Given the description of an element on the screen output the (x, y) to click on. 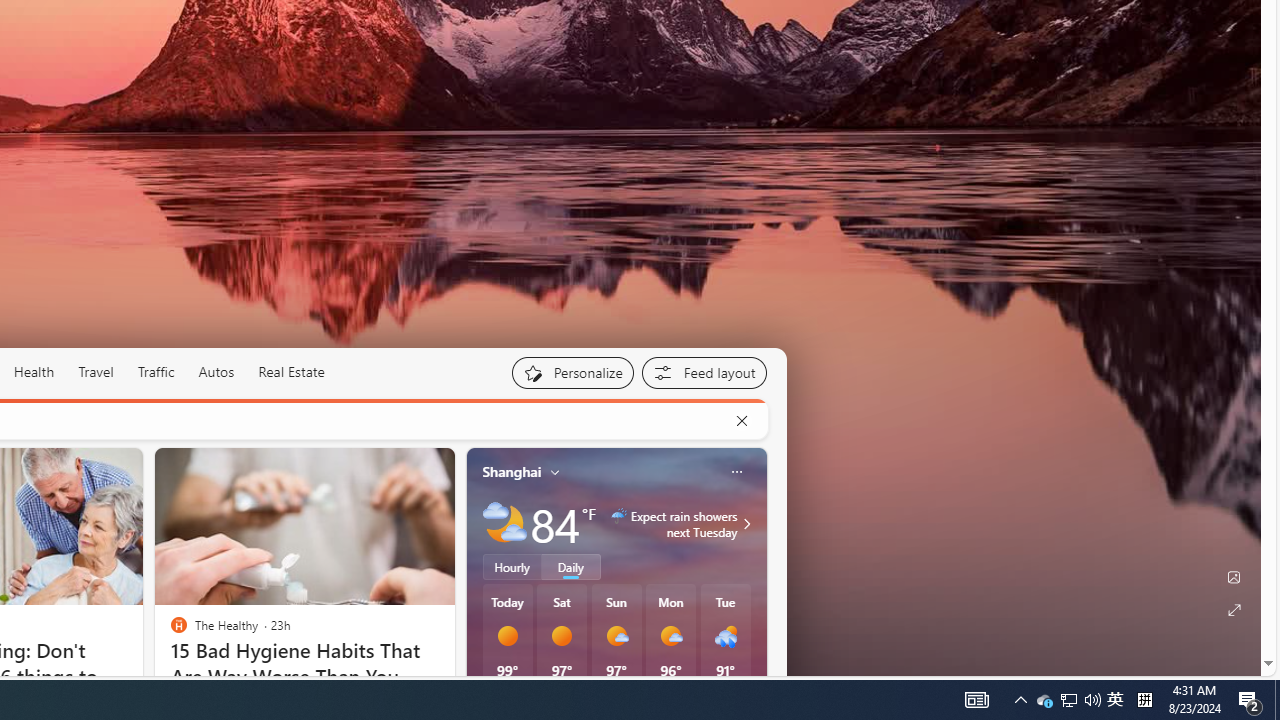
Rain showers (725, 636)
Daily (571, 566)
Expect rain showers next Tuesday (744, 523)
Partly cloudy (504, 523)
Partly cloudy (504, 523)
